Given the description of an element on the screen output the (x, y) to click on. 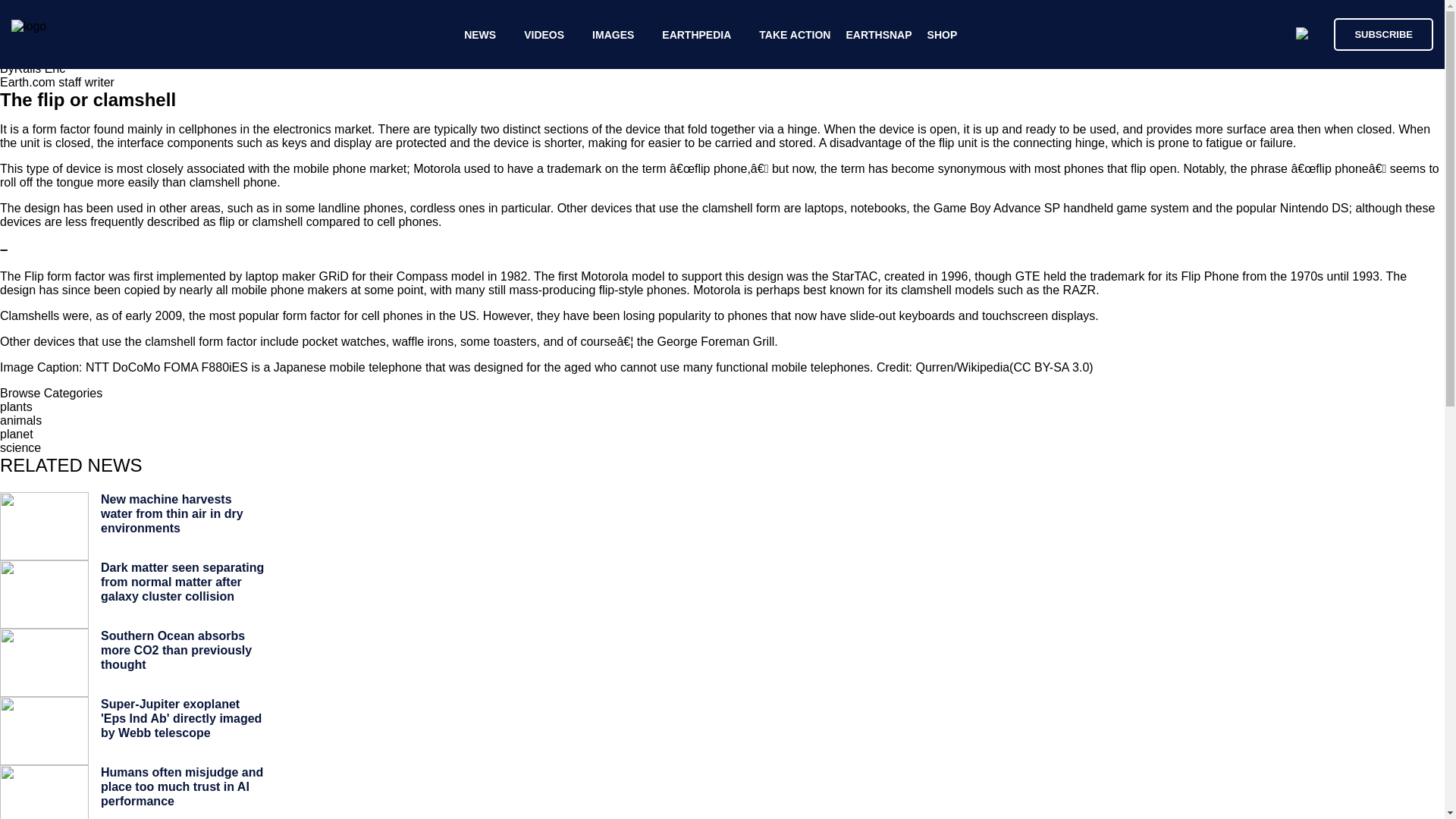
New machine harvests water from thin air in dry environments (171, 513)
SUBSCRIBE (1382, 34)
SHOP (942, 34)
TAKE ACTION (793, 34)
science (20, 447)
Ralls Eric (39, 68)
Southern Ocean absorbs more CO2 than previously thought (175, 649)
plants (16, 406)
animals (21, 420)
planet (16, 433)
EARTHSNAP (878, 34)
